Given the description of an element on the screen output the (x, y) to click on. 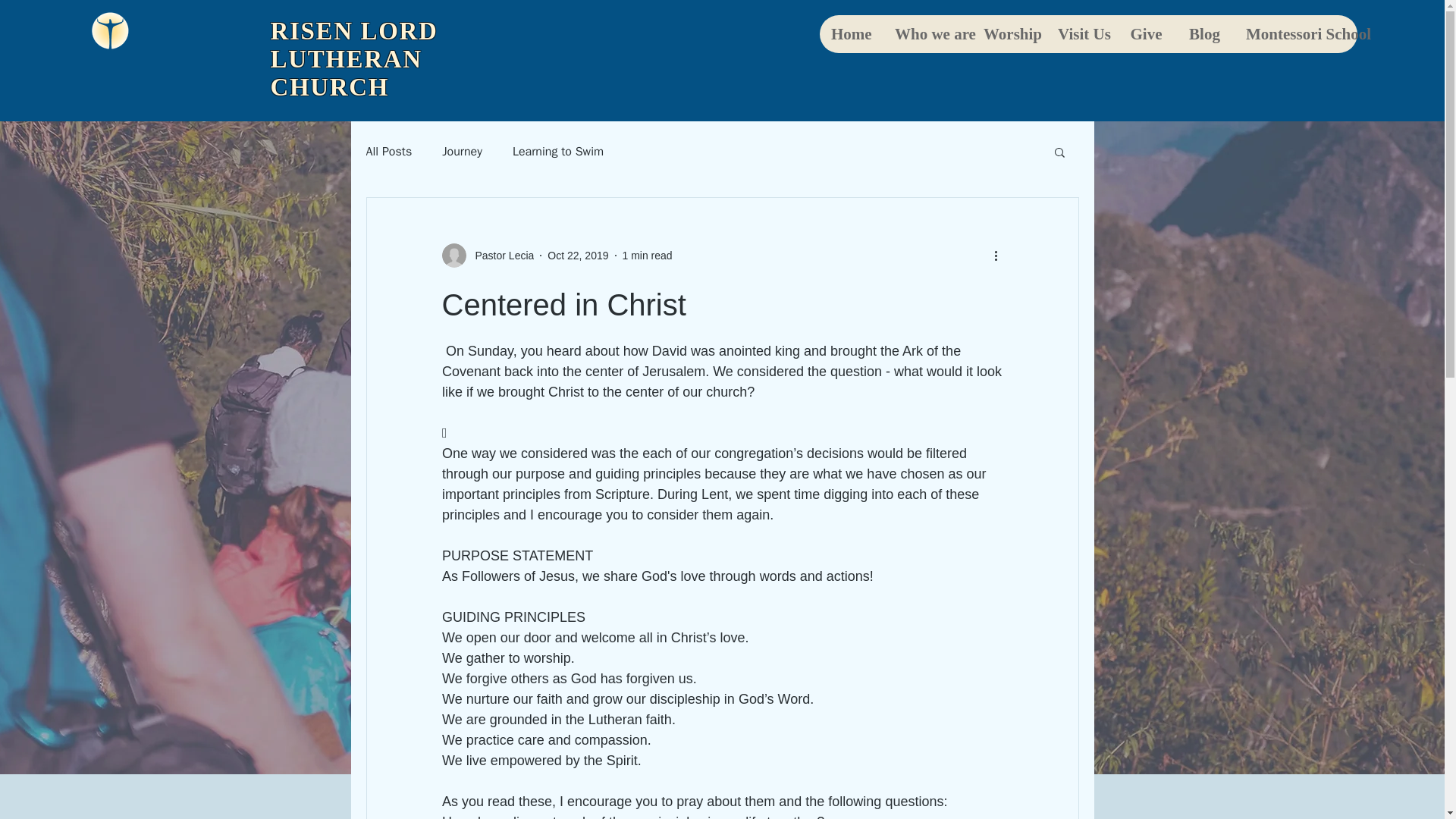
Journey (461, 151)
Oct 22, 2019 (577, 254)
Home (850, 34)
All Posts (388, 151)
Montessori School (1294, 34)
Visit Us (1080, 34)
1 min read (646, 254)
Give (1145, 34)
Worship (1008, 34)
Blog (1203, 34)
Pastor Lecia (487, 255)
Pastor Lecia (499, 254)
Learning to Swim (558, 151)
Who we are (926, 34)
